Given the description of an element on the screen output the (x, y) to click on. 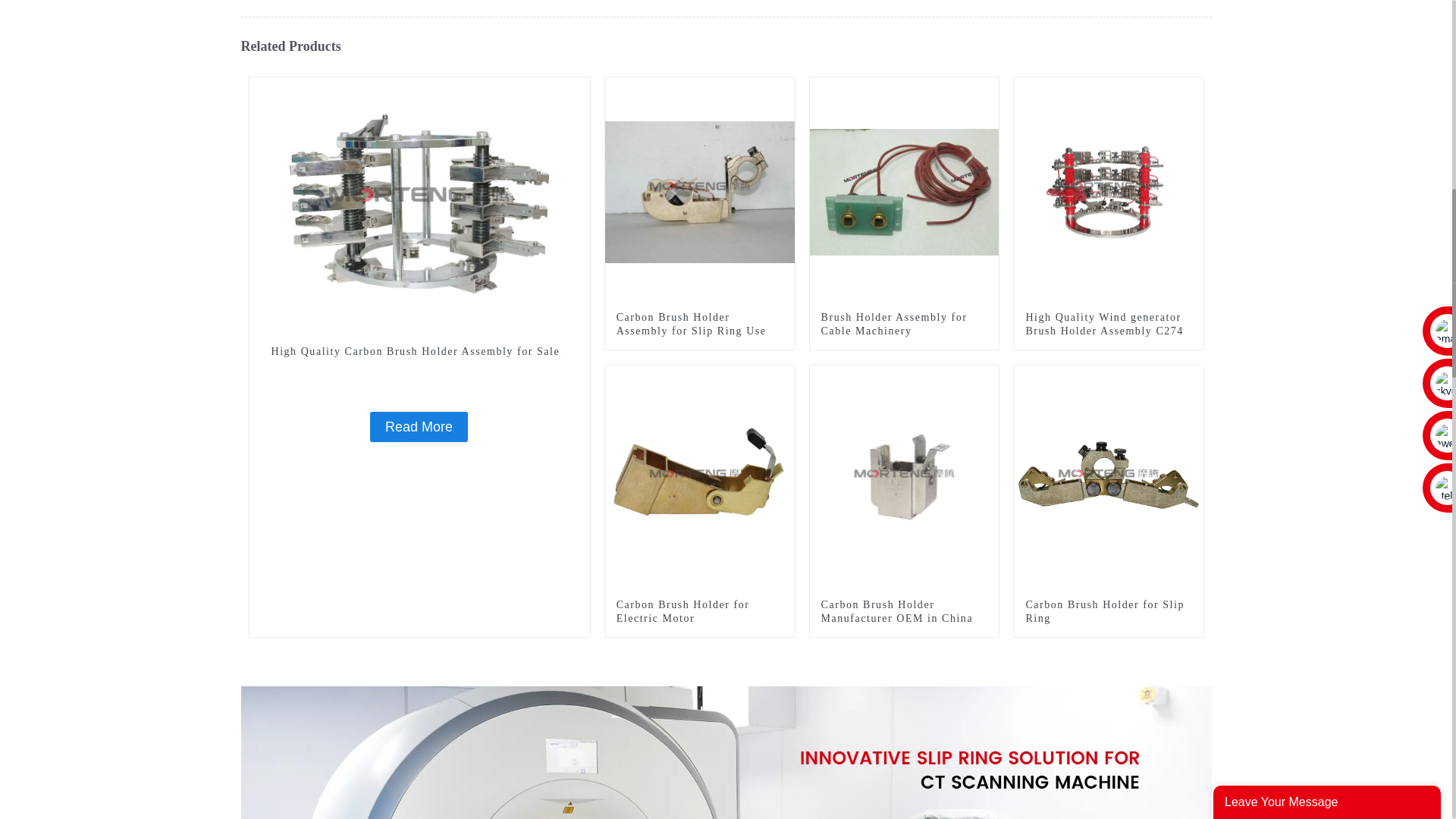
Brush Holder Assembly for Cable Machinery -1 (986, 87)
Carbon Brush Holder Assembly for Slip Ring Use (699, 191)
vestas-MTS180130C237 (578, 87)
High Quality Carbon Brush Holder Assembly for Sale (418, 351)
Brush Holder Assembly for Cable Machinery  (904, 324)
Brush Holder Assembly for Cable Machinery  (903, 191)
Carbon Brush Holder for Electric Motor (699, 478)
High Quality Wind generator Brush Holder Assembly C274 (1108, 324)
Holder-X-series-1 (782, 87)
Carbon Brush Holder Assembly for Slip Ring Use (699, 324)
